Given the description of an element on the screen output the (x, y) to click on. 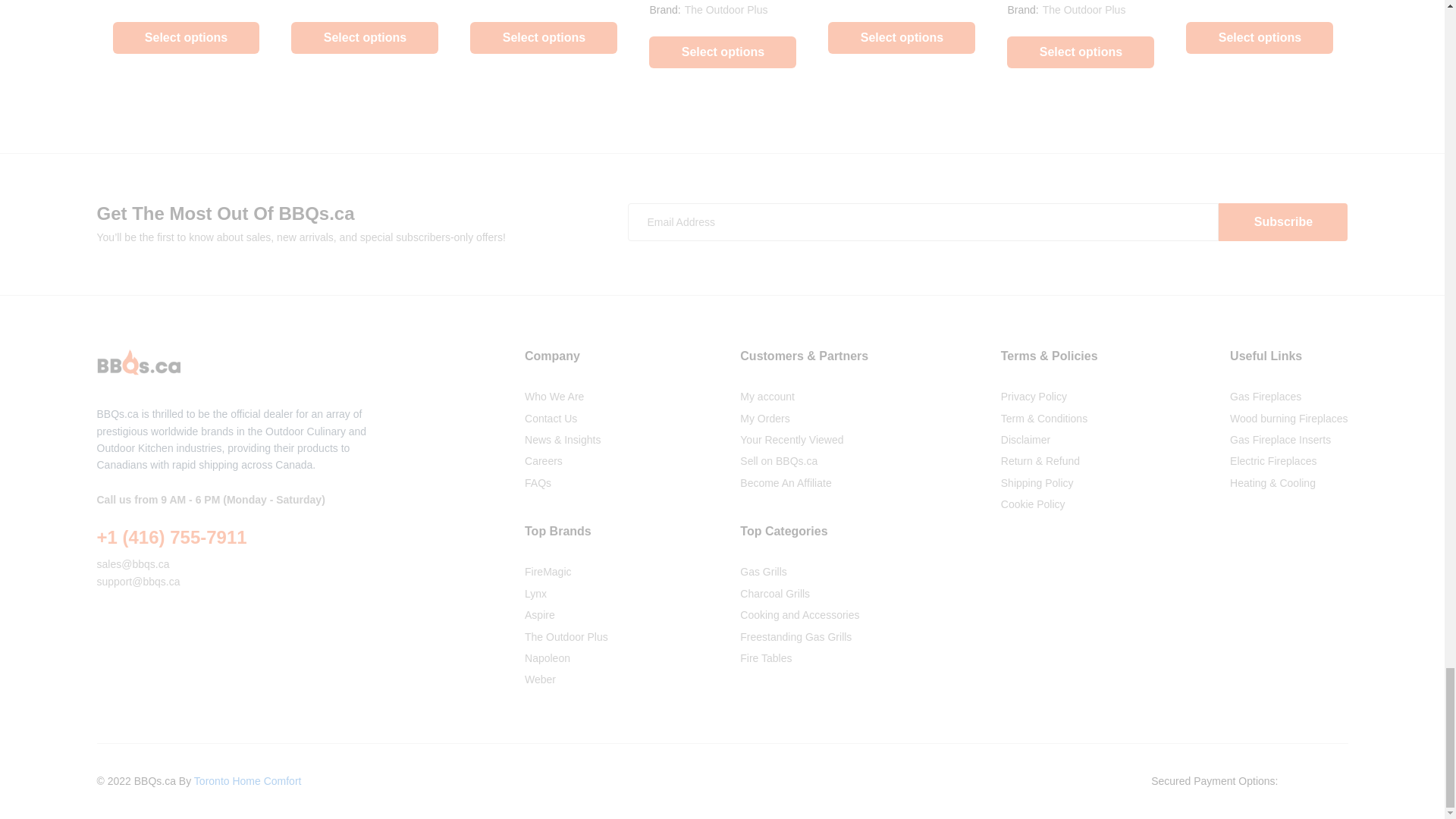
Subscribe (1283, 221)
